Given the description of an element on the screen output the (x, y) to click on. 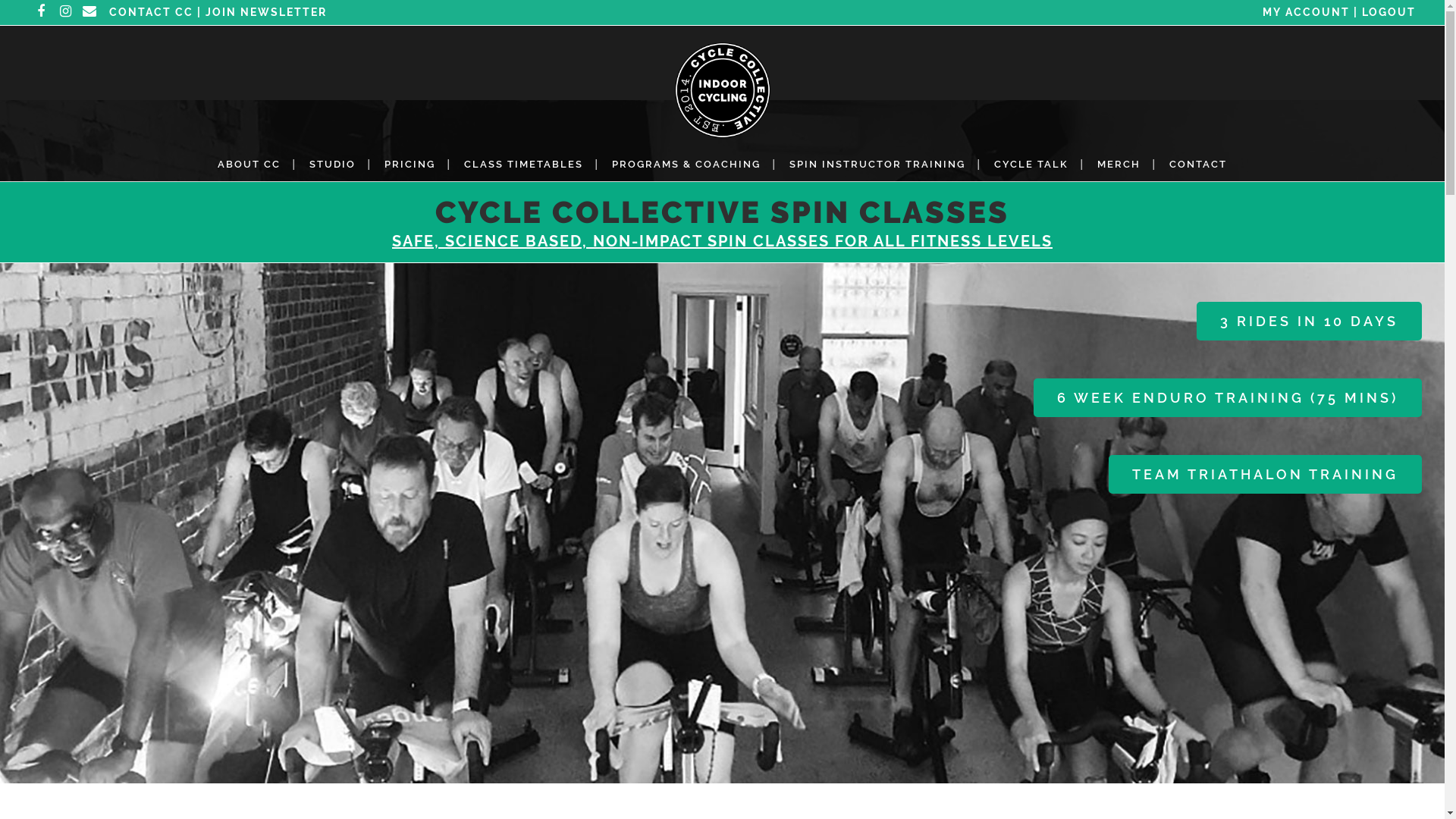
MY ACCOUNT Element type: text (1305, 12)
6 WEEK ENDURO TRAINING (75 MINS) Element type: text (1227, 397)
CONTACT Element type: text (1197, 164)
ABOUT CC Element type: text (248, 164)
LOGOUT Element type: text (1388, 12)
CLASS TIMETABLES Element type: text (523, 164)
MERCH Element type: text (1118, 164)
STUDIO Element type: text (332, 164)
CONTACT CC Element type: text (151, 12)
PRICING Element type: text (409, 164)
TEAM TRIATHALON TRAINING Element type: text (1264, 474)
CYCLE TALK Element type: text (1031, 164)
3 RIDES IN 10 DAYS Element type: text (1308, 320)
PROGRAMS & COACHING Element type: text (686, 164)
SPIN INSTRUCTOR TRAINING Element type: text (877, 164)
JOIN NEWSLETTER Element type: text (265, 12)
